Given the description of an element on the screen output the (x, y) to click on. 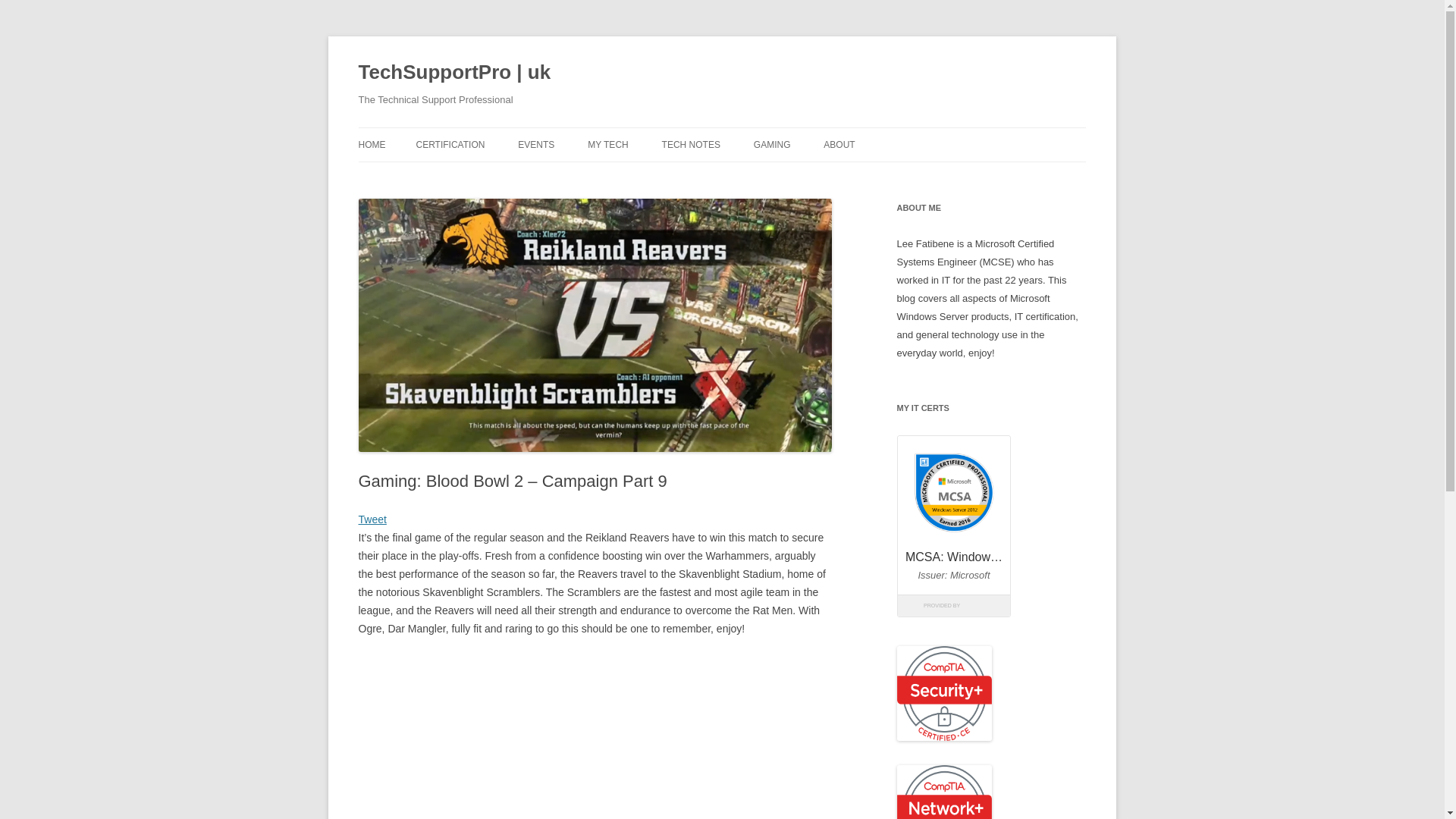
GAMING (772, 144)
AWS SUMMIT LONDON 2017 (593, 176)
SONOS ONE SMART SPEAKER (663, 176)
TECH NOTES (691, 144)
MY TECH (608, 144)
ABOUT (839, 144)
EVENTS (536, 144)
POWERSHELL (737, 176)
Tweet (371, 519)
